Given the description of an element on the screen output the (x, y) to click on. 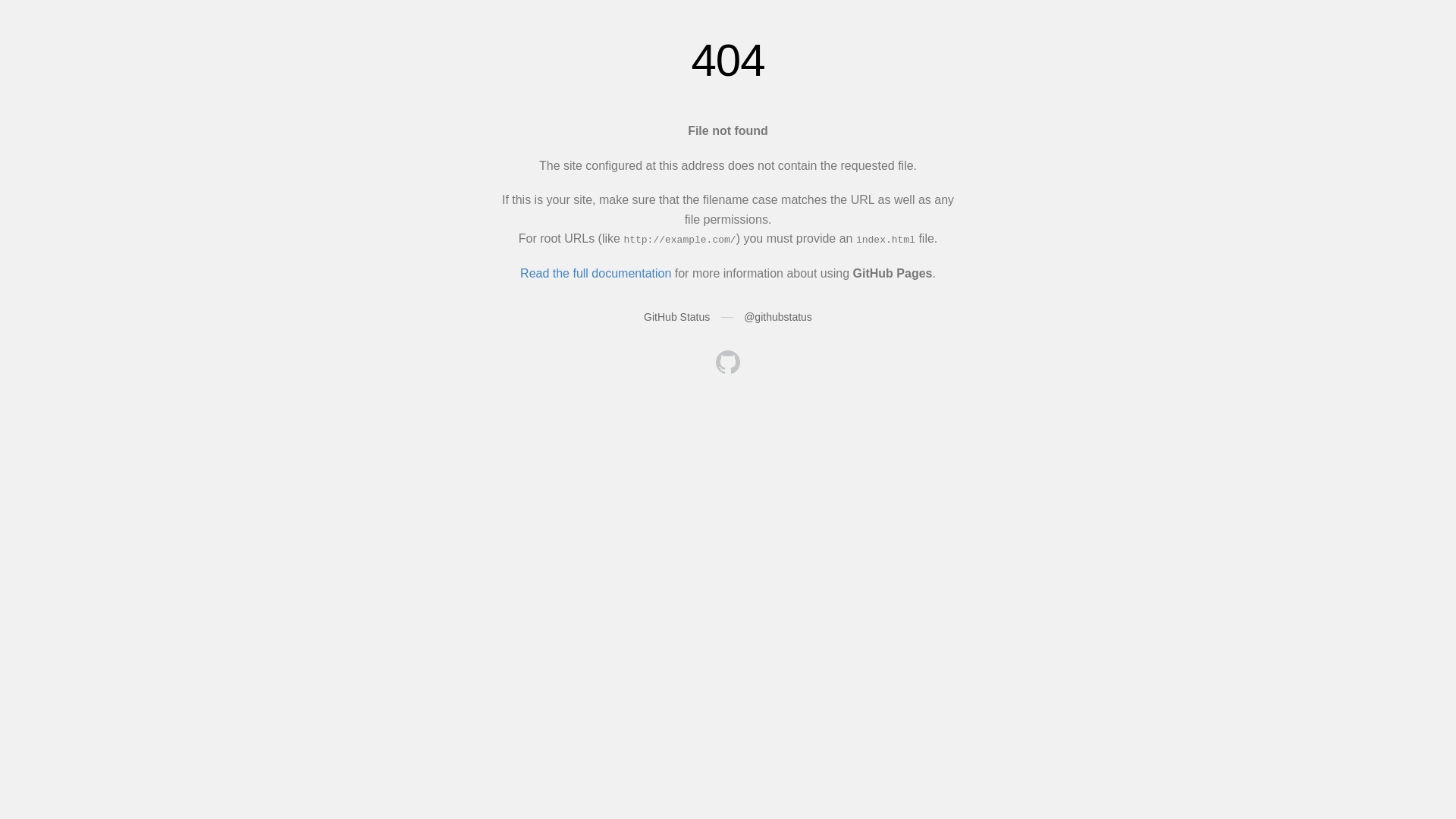
Read the full documentation Element type: text (595, 272)
GitHub Status Element type: text (676, 316)
@githubstatus Element type: text (777, 316)
